Given the description of an element on the screen output the (x, y) to click on. 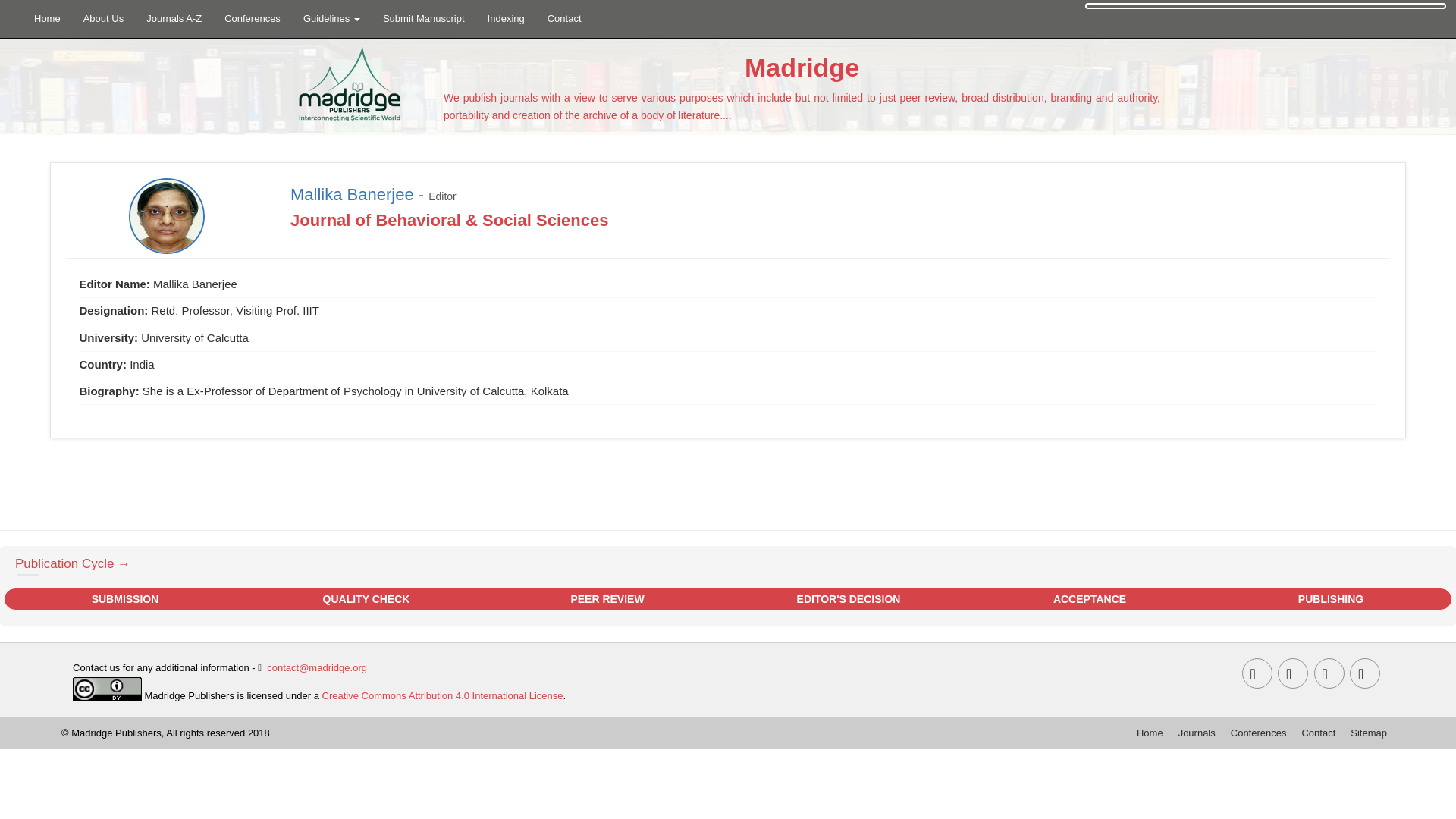
Guidelines (331, 18)
Submit Manuscript (423, 18)
Indexing (505, 18)
Creative Commons Attribution 4.0 International License (442, 695)
Editor (442, 196)
Contact (563, 18)
About Us (103, 18)
Conferences (252, 18)
Journals A-Z (173, 18)
Home (47, 18)
